Given the description of an element on the screen output the (x, y) to click on. 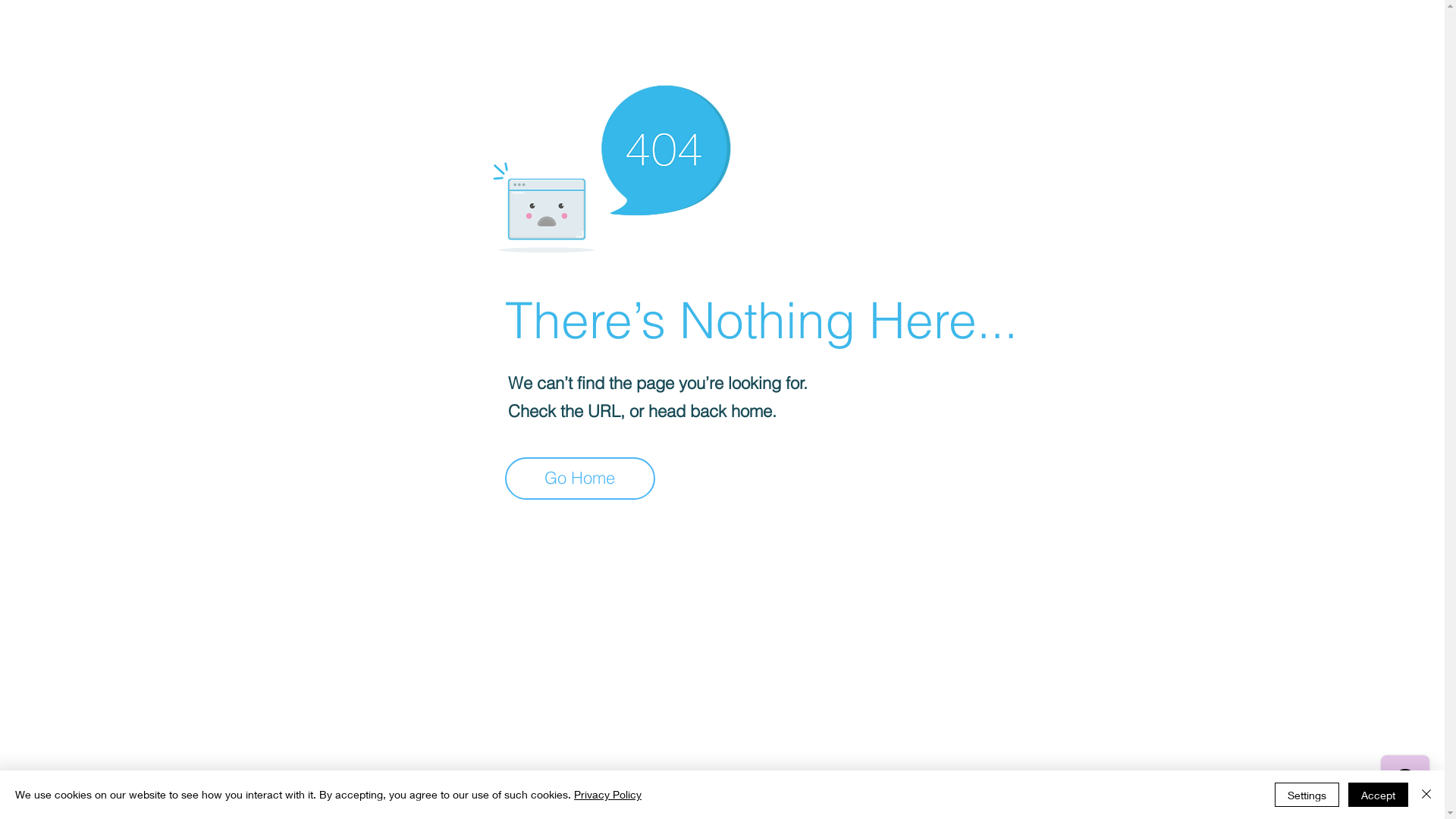
Go Home Element type: text (580, 478)
Settings Element type: text (1306, 794)
404-icon_2.png Element type: hover (610, 164)
Privacy Policy Element type: text (607, 793)
Accept Element type: text (1378, 794)
